Given the description of an element on the screen output the (x, y) to click on. 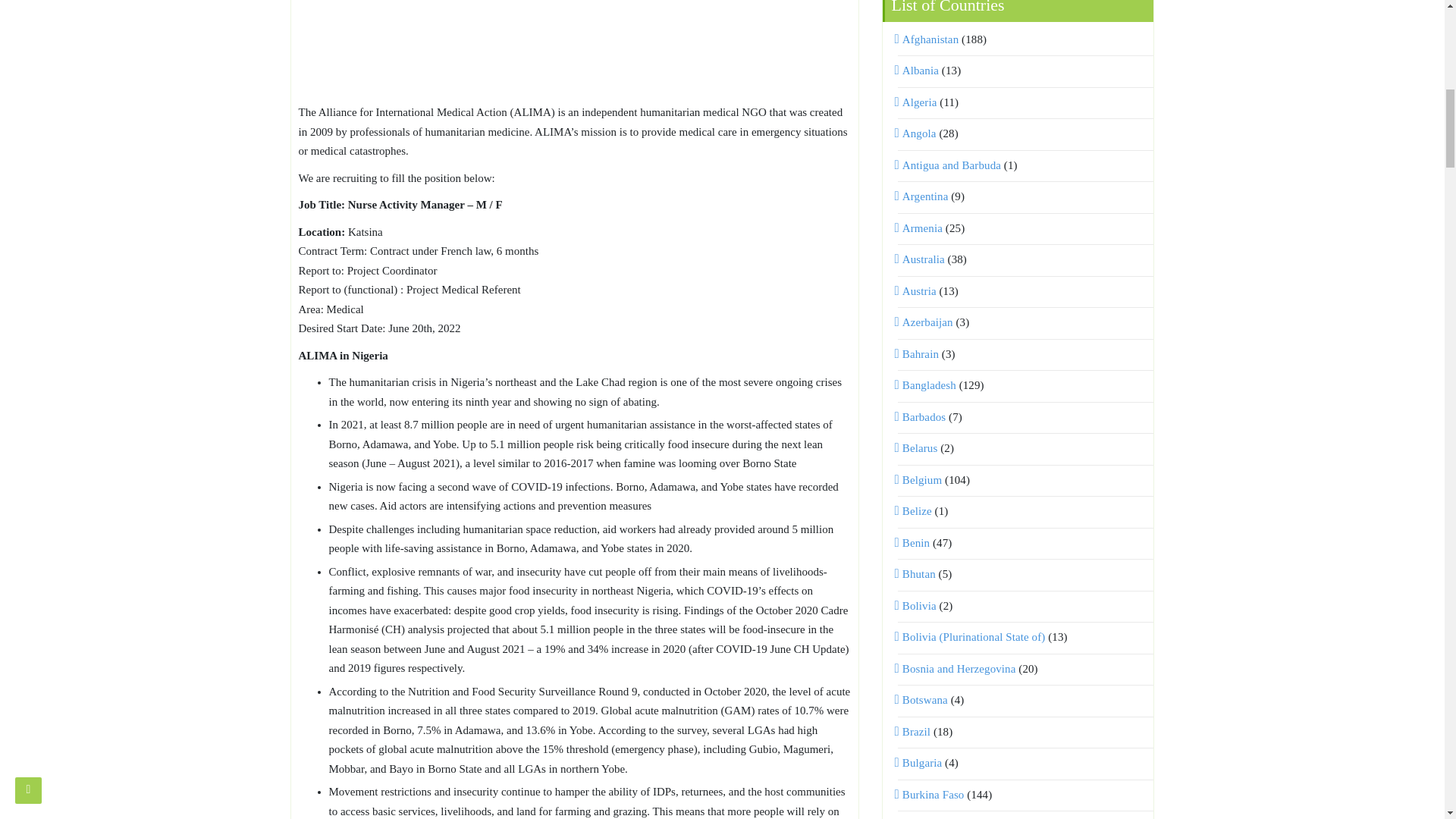
Algeria (917, 102)
Angola (917, 133)
Antigua and Barbuda (949, 164)
Afghanistan (928, 39)
Argentina (923, 196)
Advertisement (574, 48)
Albania (918, 70)
